Given the description of an element on the screen output the (x, y) to click on. 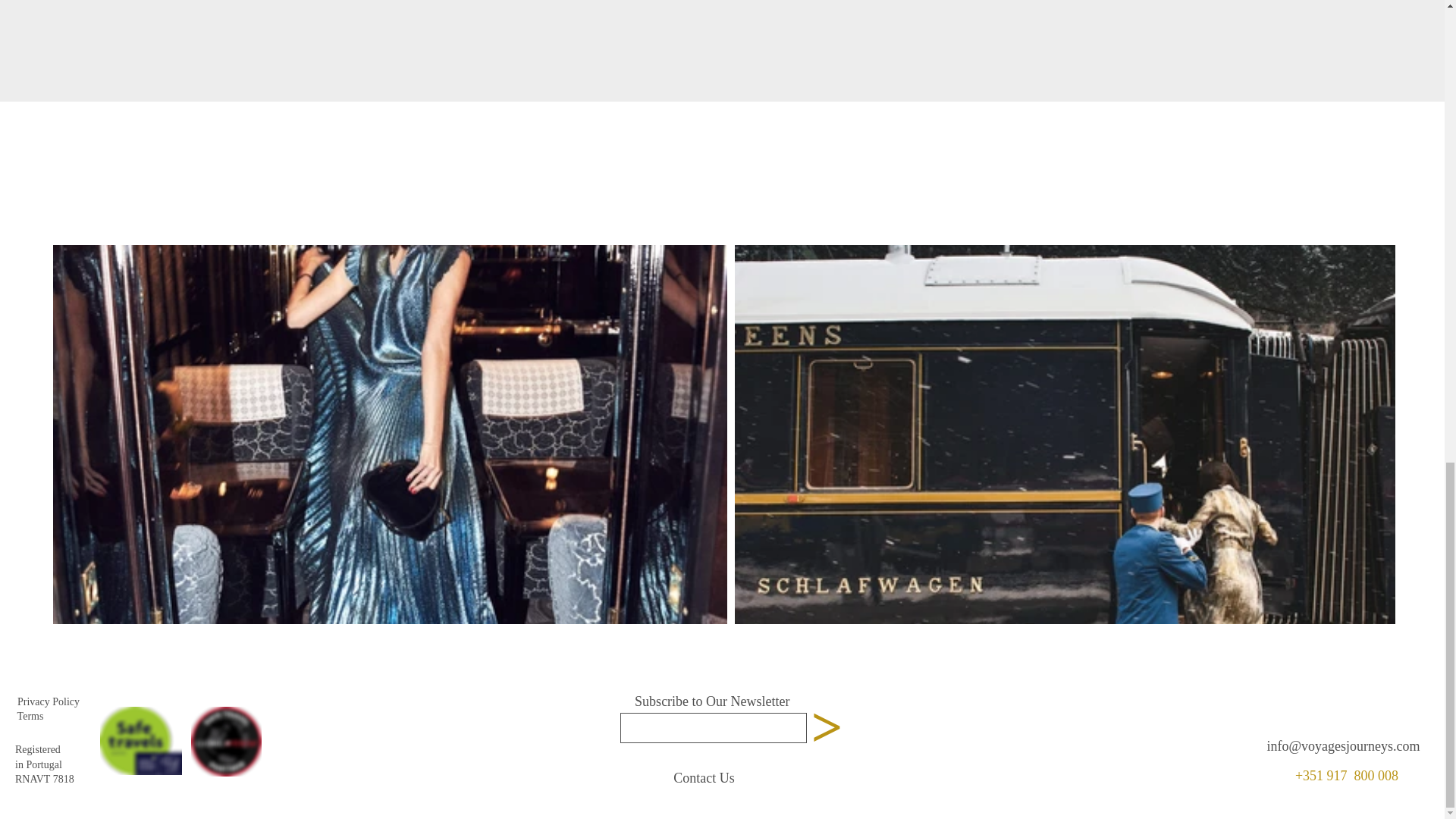
Privacy Policy (47, 702)
Contact Us (703, 777)
Terms (29, 716)
